Given the description of an element on the screen output the (x, y) to click on. 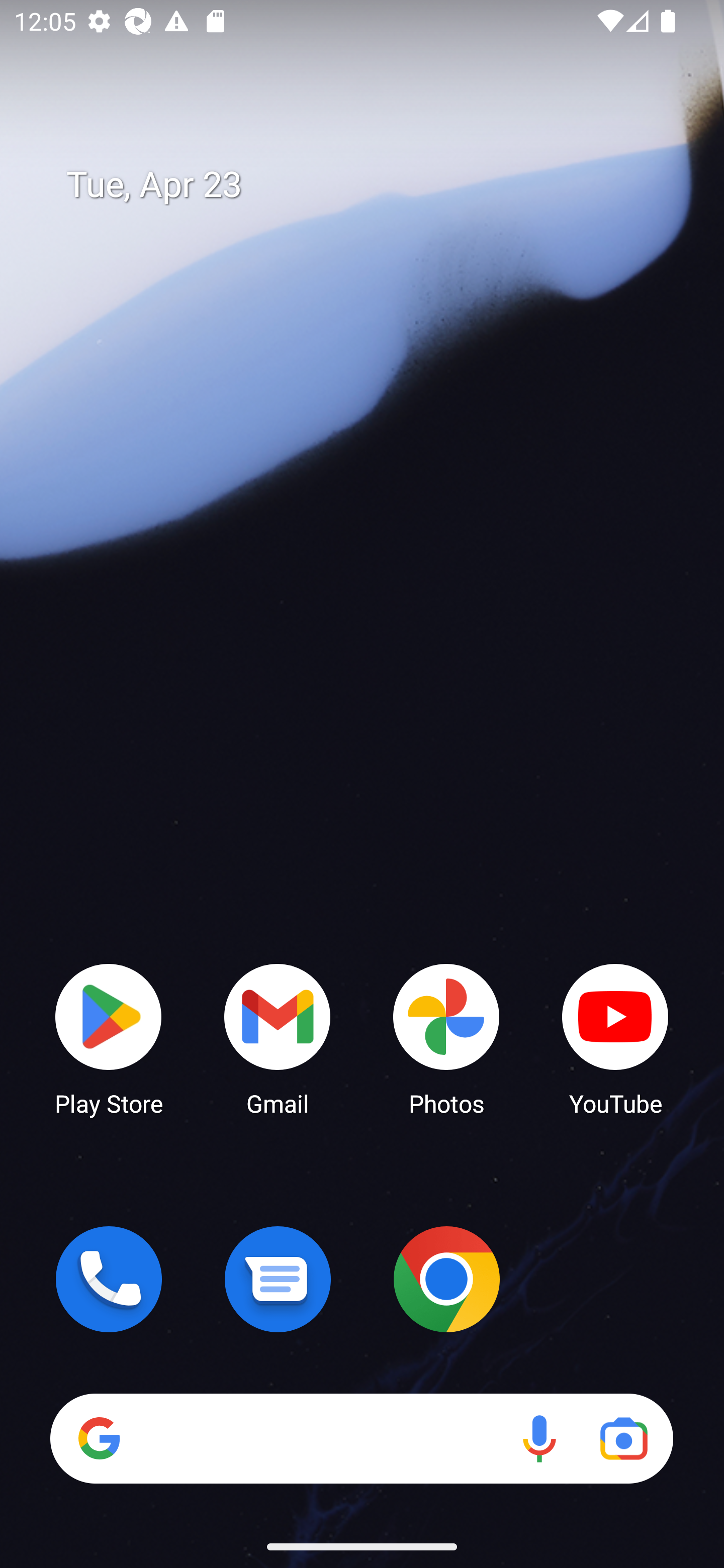
Tue, Apr 23 (375, 184)
Play Store (108, 1038)
Gmail (277, 1038)
Photos (445, 1038)
YouTube (615, 1038)
Phone (108, 1279)
Messages (277, 1279)
Chrome (446, 1279)
Search Voice search Google Lens (361, 1438)
Voice search (539, 1438)
Google Lens (623, 1438)
